Given the description of an element on the screen output the (x, y) to click on. 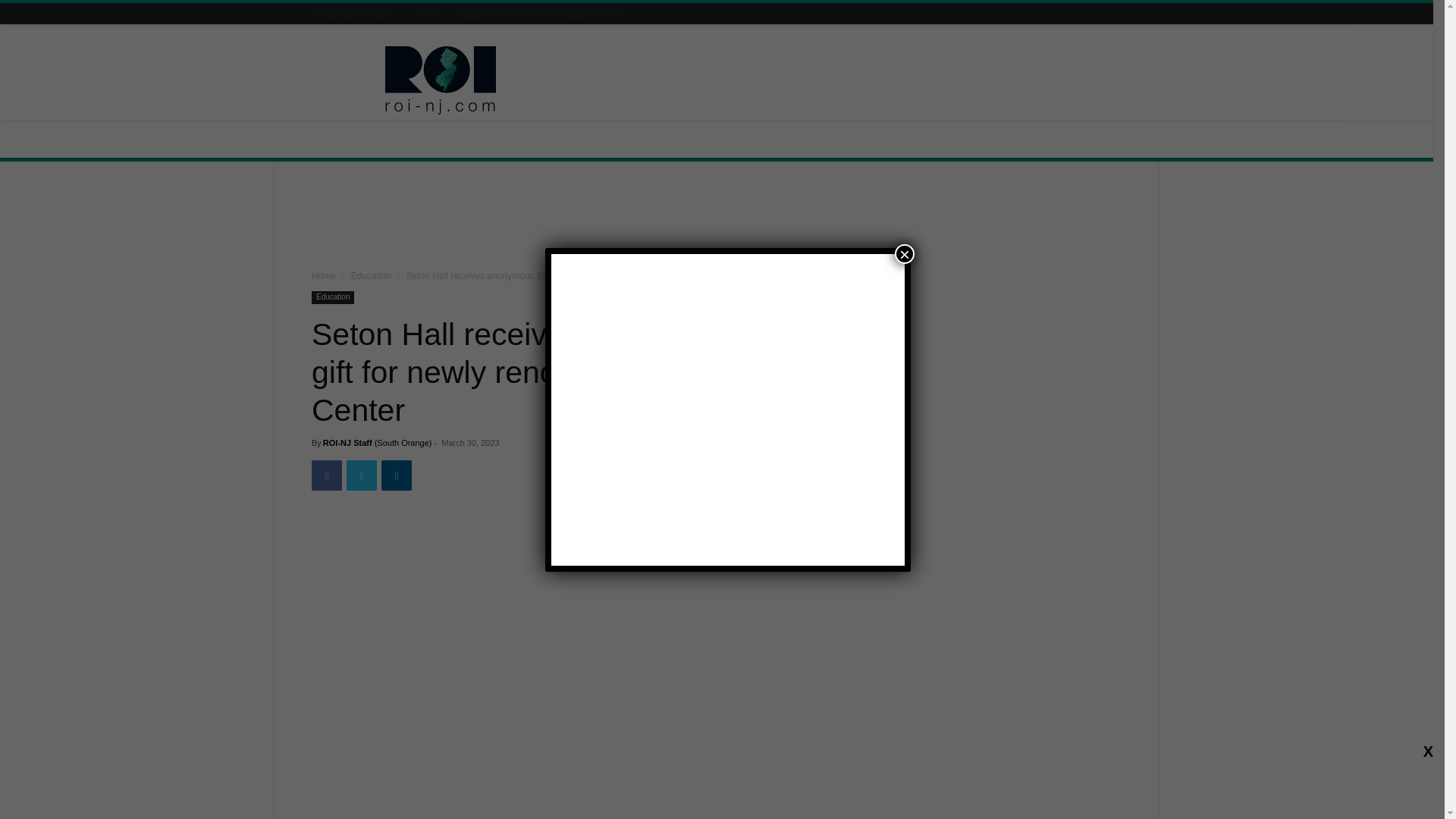
View all posts in Education (370, 276)
Twitter (361, 475)
3rd party ad content (716, 218)
3rd party ad content (845, 79)
Linkedin (396, 475)
Facebook (326, 475)
